Given the description of an element on the screen output the (x, y) to click on. 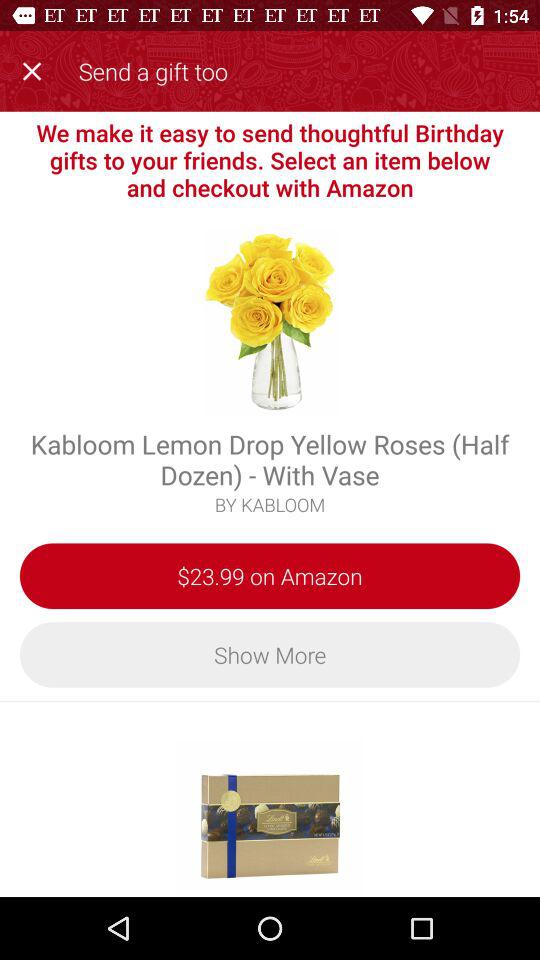
click show more icon (269, 654)
